Given the description of an element on the screen output the (x, y) to click on. 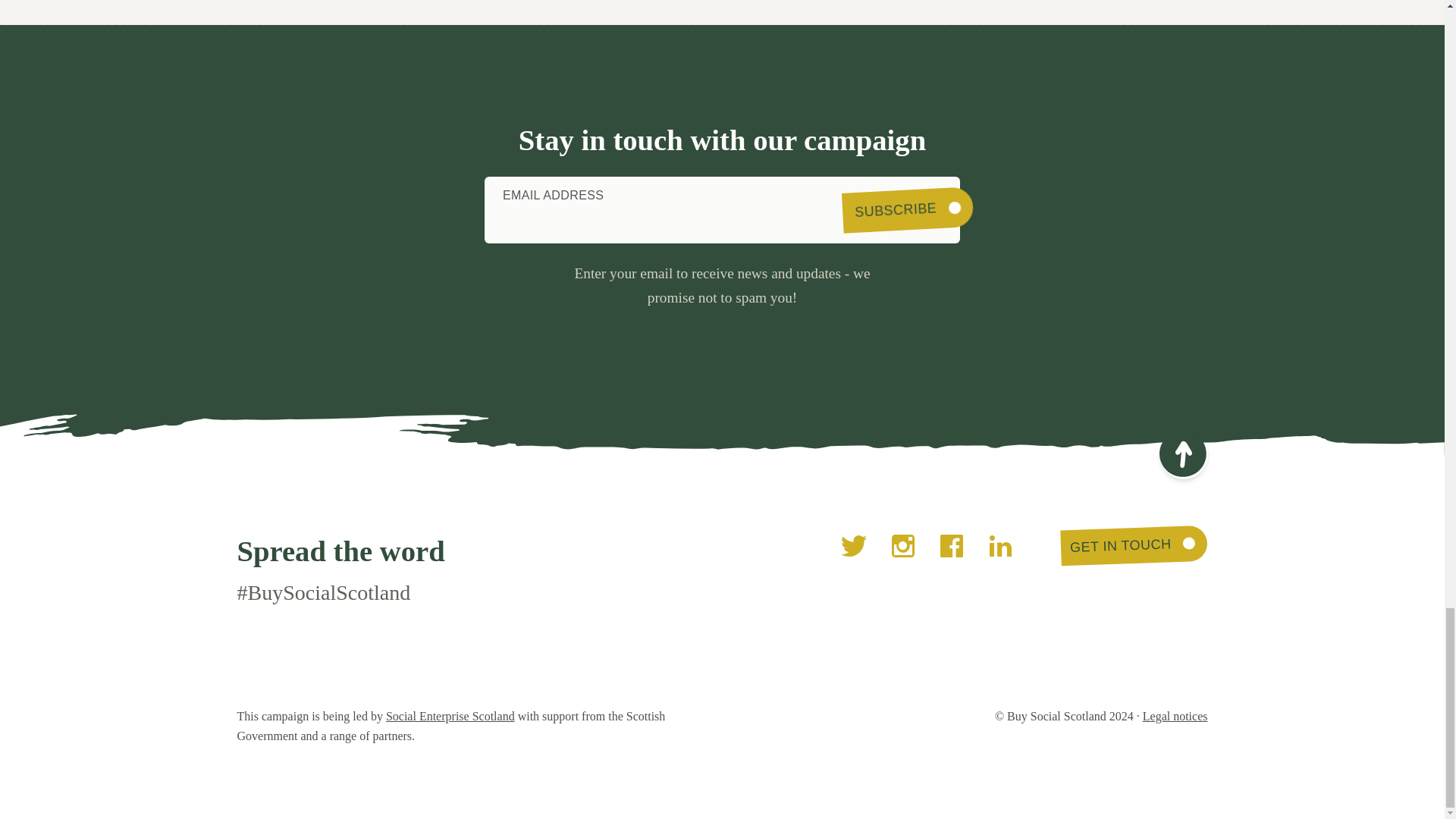
Instagram (903, 545)
Facebook (951, 545)
Twitter (853, 545)
Linkedin (999, 545)
